Given the description of an element on the screen output the (x, y) to click on. 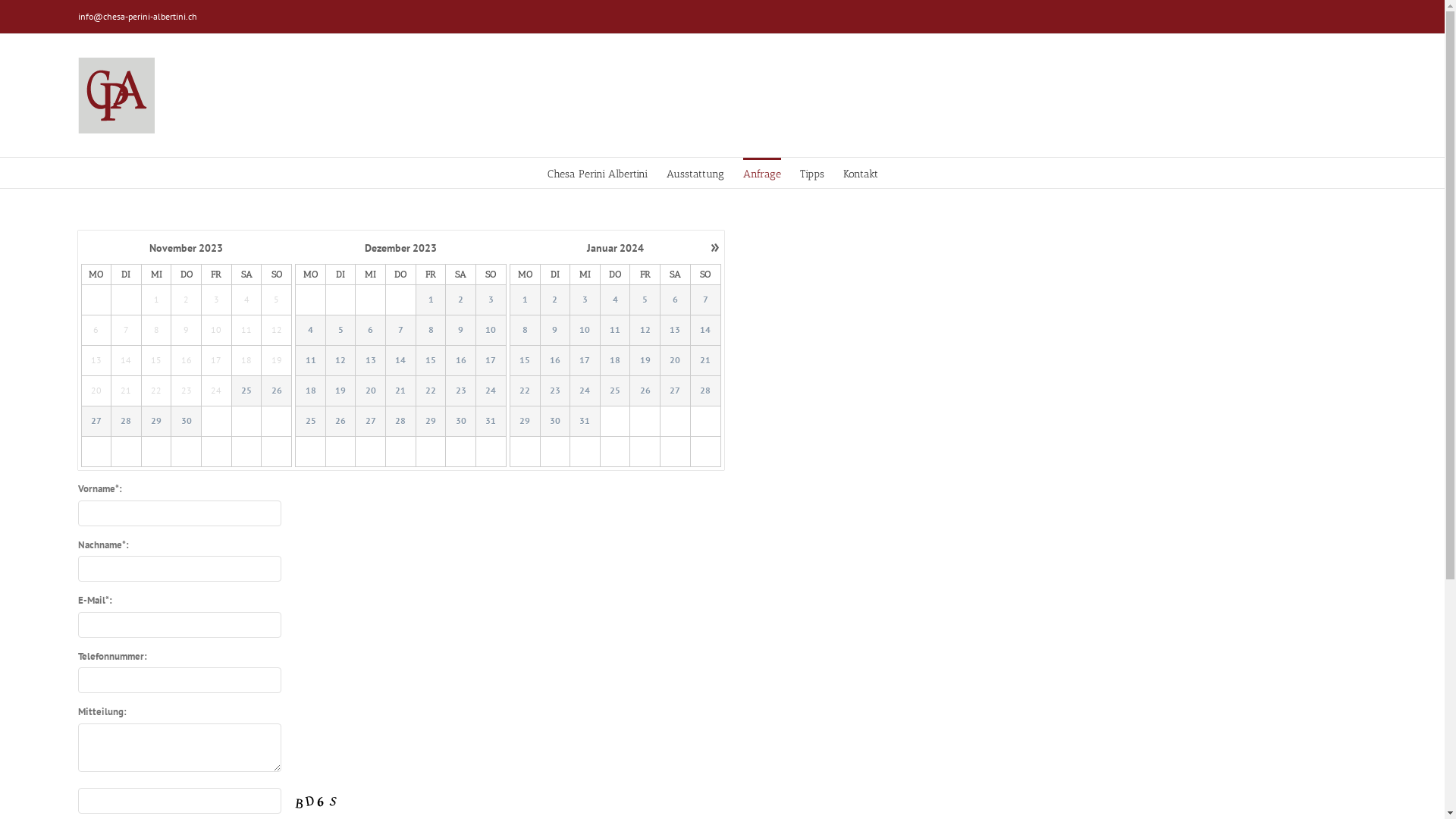
17 Element type: text (584, 360)
25 Element type: text (614, 391)
16 Element type: text (554, 360)
27 Element type: text (96, 421)
5 Element type: text (340, 329)
3 Element type: text (490, 299)
31 Element type: text (584, 420)
22 Element type: text (524, 391)
28 Element type: text (400, 421)
9 Element type: text (554, 330)
31 Element type: text (490, 420)
17 Element type: text (585, 360)
7 Element type: text (400, 330)
26 Element type: text (276, 390)
9 Element type: text (460, 329)
6 Element type: text (370, 330)
8 Element type: text (430, 330)
26 Element type: text (340, 421)
3 Element type: text (584, 299)
10 Element type: text (585, 330)
25 Element type: text (615, 390)
8 Element type: text (524, 329)
28 Element type: text (126, 421)
25 Element type: text (246, 390)
22 Element type: text (430, 390)
21 Element type: text (705, 360)
20 Element type: text (370, 390)
15 Element type: text (430, 360)
22 Element type: text (430, 391)
13 Element type: text (675, 329)
13 Element type: text (370, 360)
9 Element type: text (554, 329)
10 Element type: text (584, 329)
28 Element type: text (705, 390)
28 Element type: text (126, 420)
16 Element type: text (460, 360)
18 Element type: text (310, 391)
29 Element type: text (430, 420)
4 Element type: text (310, 330)
6 Element type: text (675, 299)
26 Element type: text (645, 391)
3 Element type: text (491, 300)
30 Element type: text (460, 420)
18 Element type: text (310, 390)
24 Element type: text (585, 391)
31 Element type: text (585, 421)
29 Element type: text (430, 421)
12 Element type: text (644, 329)
22 Element type: text (524, 390)
23 Element type: text (460, 390)
30 Element type: text (554, 420)
11 Element type: text (310, 360)
30 Element type: text (554, 421)
18 Element type: text (615, 360)
2 Element type: text (554, 299)
5 Element type: text (340, 330)
Ausstattung Element type: text (695, 172)
12 Element type: text (340, 360)
30 Element type: text (186, 421)
27 Element type: text (96, 420)
10 Element type: text (491, 330)
24 Element type: text (490, 390)
12 Element type: text (645, 330)
Kontakt Element type: text (860, 172)
21 Element type: text (400, 391)
info@chesa-perini-albertini.ch Element type: text (136, 15)
25 Element type: text (310, 421)
8 Element type: text (524, 330)
23 Element type: text (460, 391)
15 Element type: text (524, 360)
24 Element type: text (491, 391)
14 Element type: text (705, 329)
26 Element type: text (276, 391)
20 Element type: text (675, 360)
29 Element type: text (156, 420)
7 Element type: text (400, 329)
4 Element type: text (310, 329)
15 Element type: text (430, 360)
29 Element type: text (156, 421)
15 Element type: text (524, 360)
30 Element type: text (185, 420)
19 Element type: text (340, 390)
20 Element type: text (370, 391)
14 Element type: text (705, 330)
1 Element type: text (524, 300)
2 Element type: text (460, 300)
20 Element type: text (675, 360)
27 Element type: text (370, 421)
11 Element type: text (310, 360)
Tipps Element type: text (812, 172)
24 Element type: text (584, 390)
31 Element type: text (491, 421)
Chesa Perini Albertini Element type: text (597, 172)
11 Element type: text (614, 330)
12 Element type: text (340, 360)
17 Element type: text (491, 360)
3 Element type: text (585, 300)
8 Element type: text (430, 329)
9 Element type: text (460, 330)
14 Element type: text (400, 360)
16 Element type: text (554, 360)
28 Element type: text (400, 420)
21 Element type: text (400, 390)
29 Element type: text (524, 421)
1 Element type: text (430, 299)
19 Element type: text (644, 360)
2 Element type: text (460, 299)
30 Element type: text (460, 421)
4 Element type: text (614, 300)
21 Element type: text (705, 360)
13 Element type: text (370, 360)
23 Element type: text (554, 390)
1 Element type: text (524, 299)
14 Element type: text (400, 360)
17 Element type: text (490, 360)
Anfrage Element type: text (762, 172)
26 Element type: text (340, 420)
27 Element type: text (675, 391)
25 Element type: text (246, 391)
26 Element type: text (644, 390)
6 Element type: text (370, 329)
6 Element type: text (675, 300)
1 Element type: text (430, 300)
18 Element type: text (614, 360)
10 Element type: text (490, 329)
4 Element type: text (615, 299)
25 Element type: text (310, 420)
27 Element type: text (370, 420)
11 Element type: text (615, 329)
29 Element type: text (524, 420)
23 Element type: text (554, 391)
27 Element type: text (675, 390)
28 Element type: text (705, 391)
7 Element type: text (705, 300)
13 Element type: text (675, 330)
19 Element type: text (645, 360)
16 Element type: text (460, 360)
2 Element type: text (554, 300)
5 Element type: text (645, 300)
5 Element type: text (644, 299)
7 Element type: text (705, 299)
19 Element type: text (340, 391)
